Given the description of an element on the screen output the (x, y) to click on. 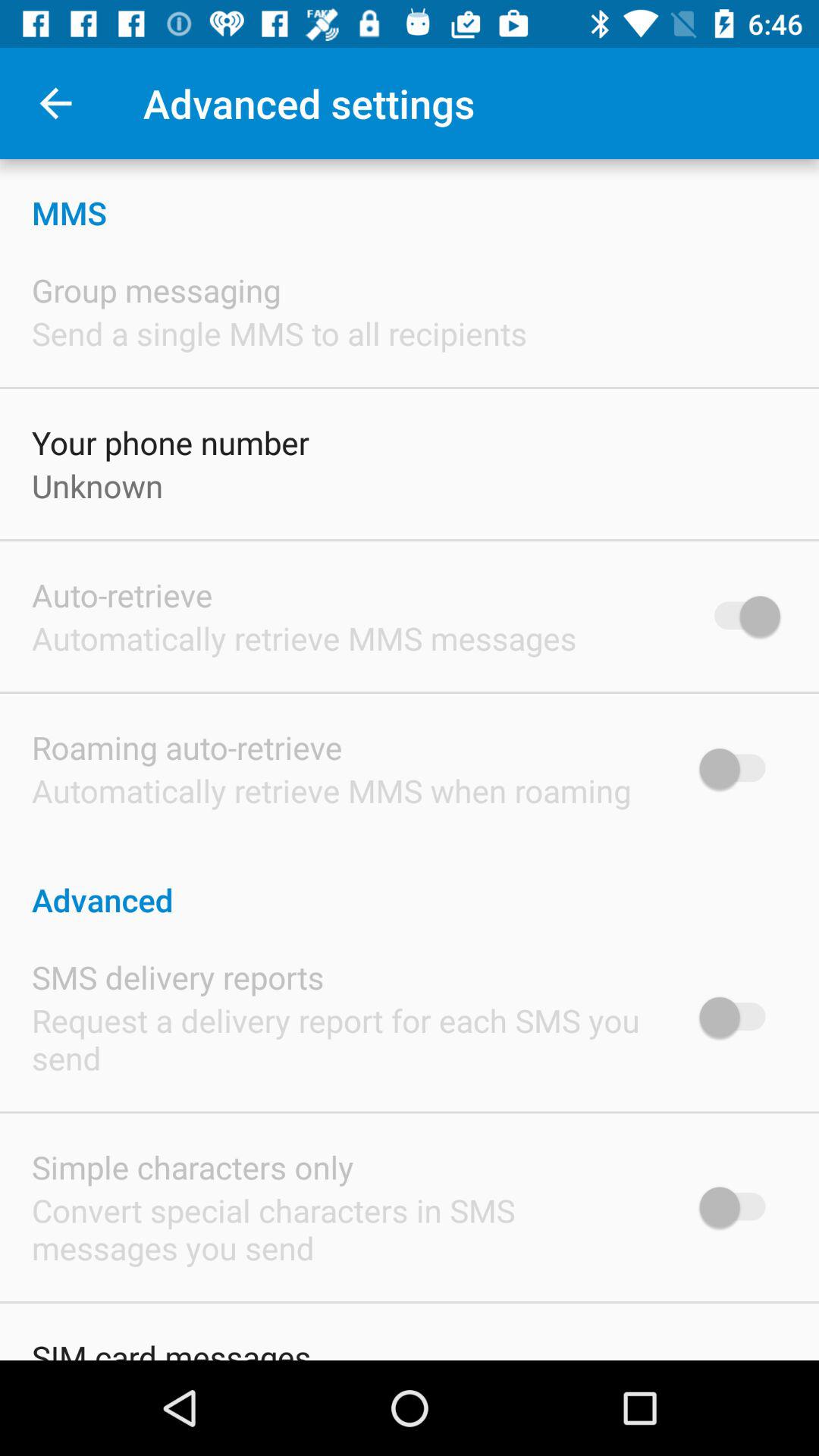
flip to the unknown icon (97, 485)
